Given the description of an element on the screen output the (x, y) to click on. 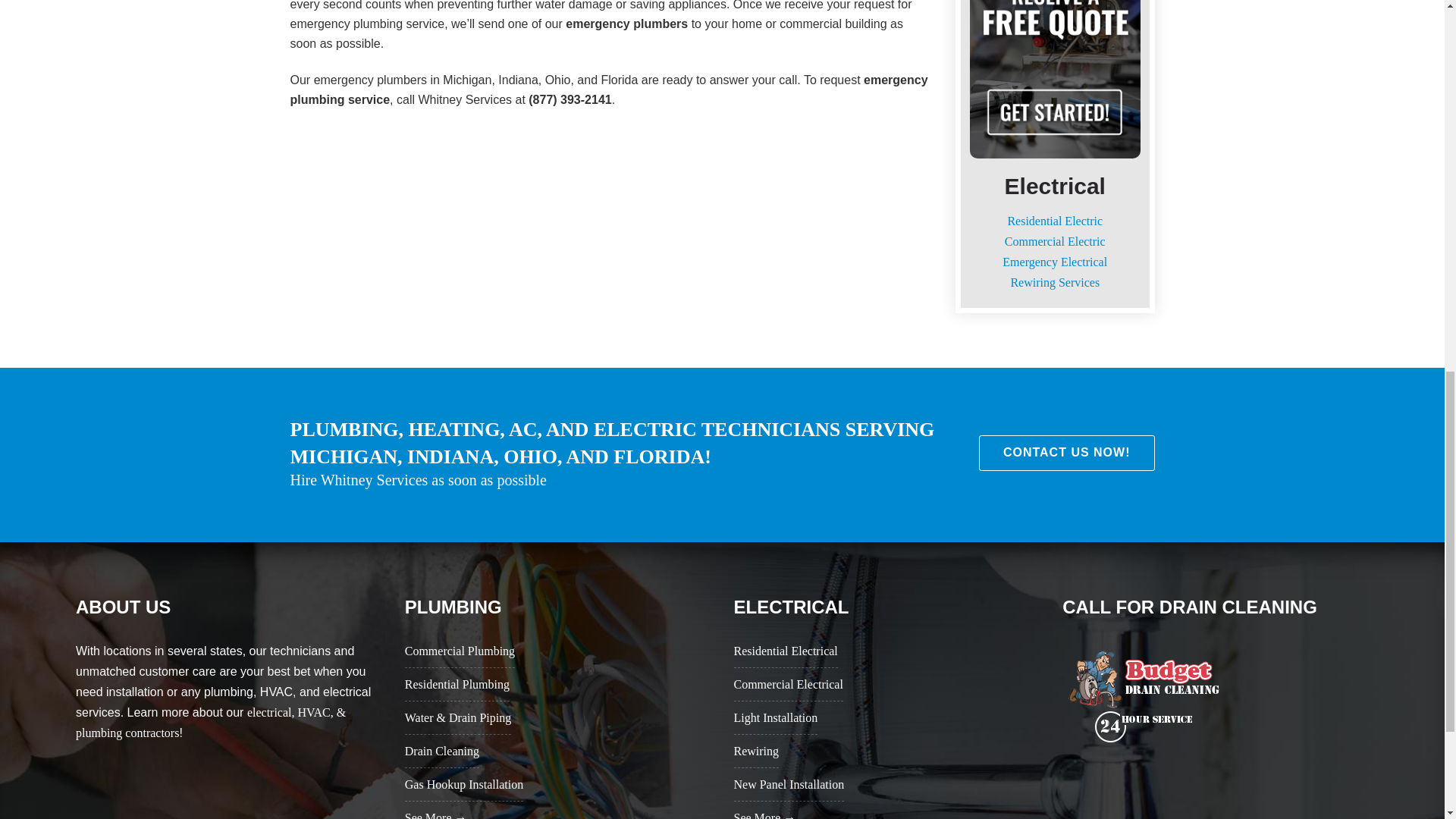
Drain Cleaning Plumbers Michigan (1145, 695)
